Given the description of an element on the screen output the (x, y) to click on. 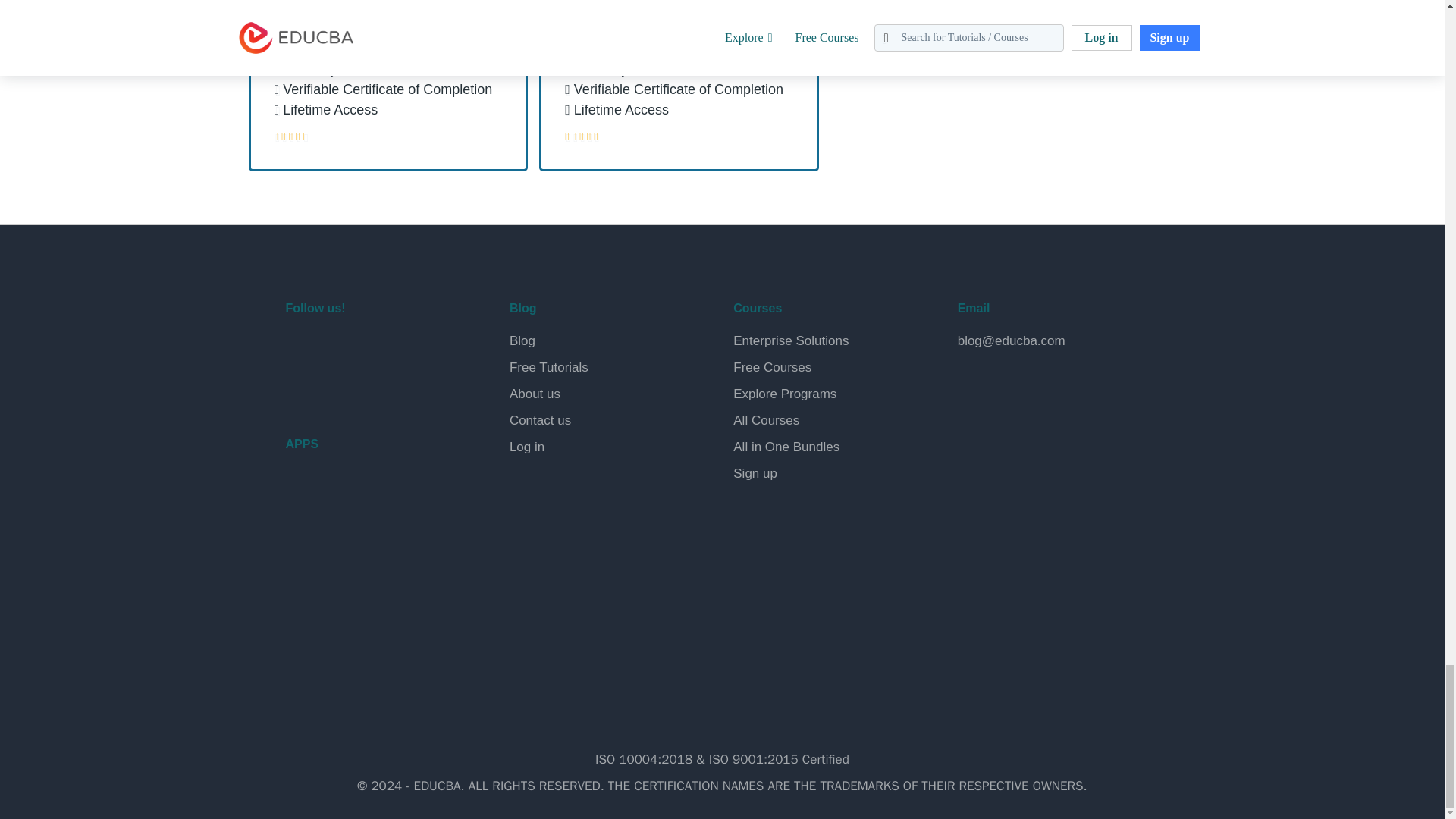
EDUCBA Instagram (408, 349)
EDUCBA Facebook (300, 349)
EDUCBA LinkedIN (371, 349)
EDUCBA Coursera (336, 387)
EDUCBA Udemy (371, 387)
EDUCBA Android App (360, 498)
EDUCBA Youtube (300, 387)
EDUCBA Twitter (336, 349)
EDUCBA iOS App (360, 562)
